Given the description of an element on the screen output the (x, y) to click on. 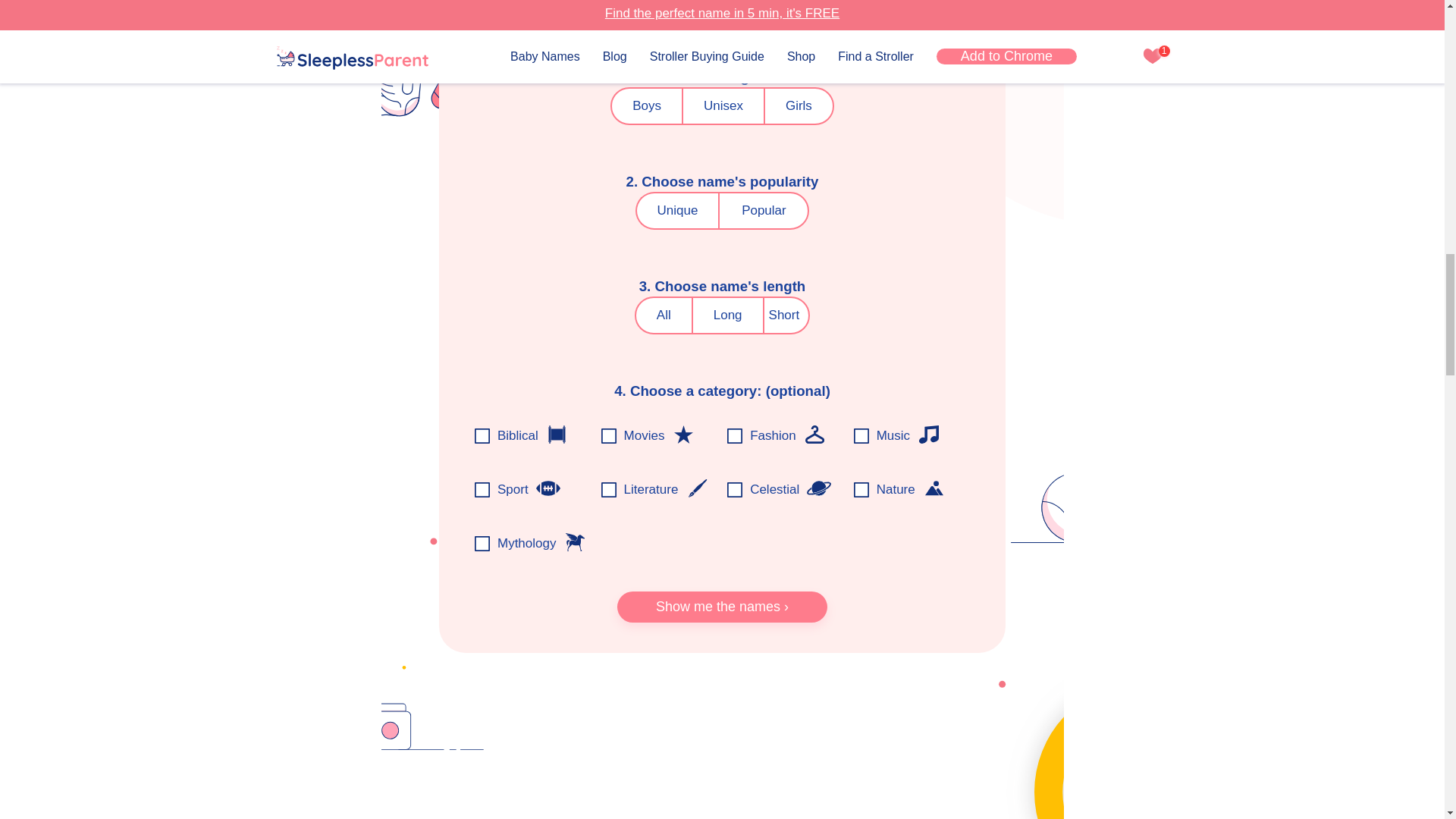
Movies (683, 434)
Fashion (814, 434)
Literature (696, 488)
Biblical (557, 434)
Advertisement (721, 751)
Nature (933, 488)
Sport (547, 488)
Music (928, 434)
Celestial (818, 488)
Mythology (575, 542)
